Given the description of an element on the screen output the (x, y) to click on. 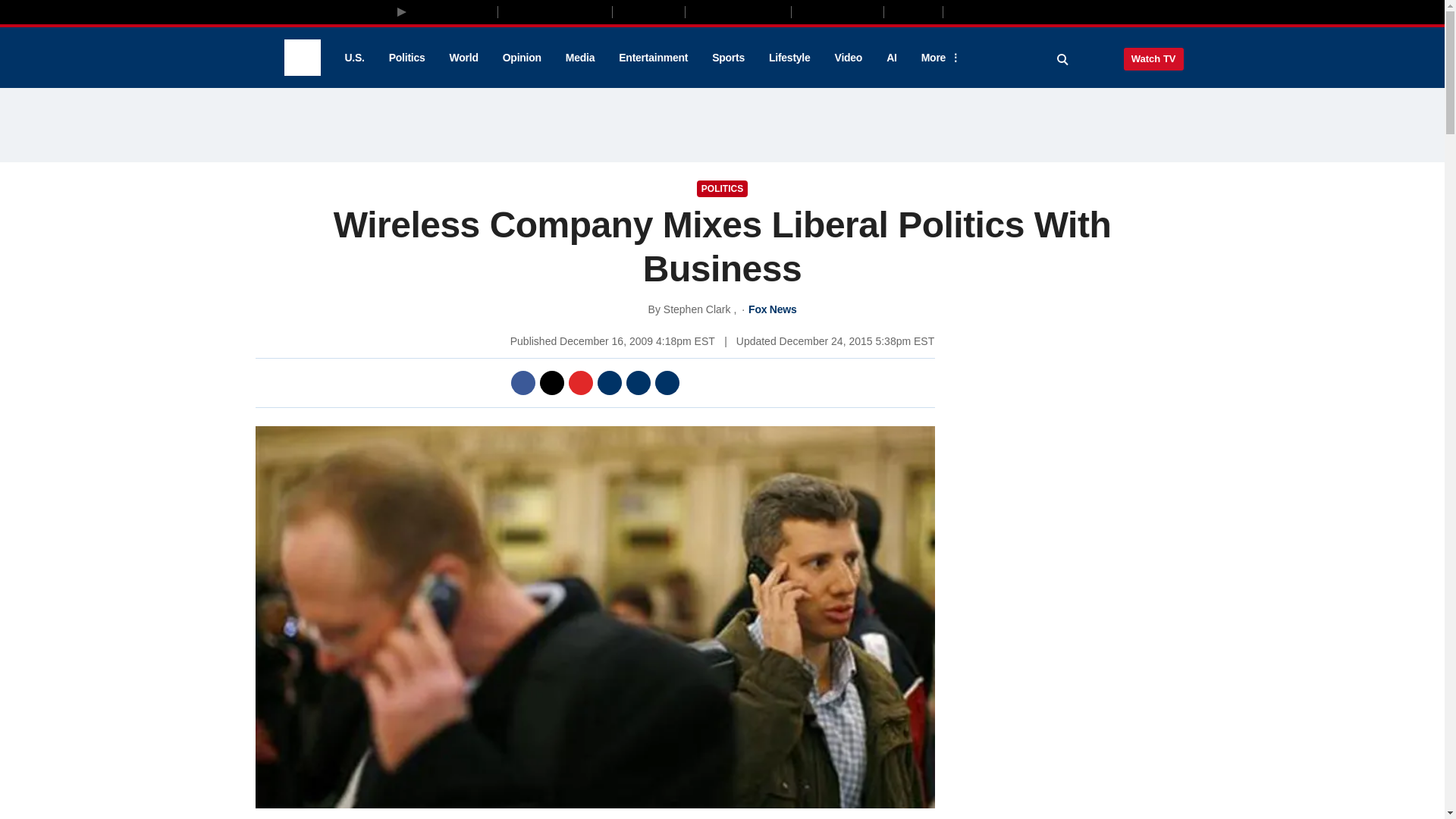
Video (848, 57)
Entertainment (653, 57)
Fox Business (554, 11)
U.S. (353, 57)
Fox Weather (836, 11)
Fox News (301, 57)
Fox Nation (648, 11)
Sports (728, 57)
Books (1007, 11)
AI (891, 57)
